Given the description of an element on the screen output the (x, y) to click on. 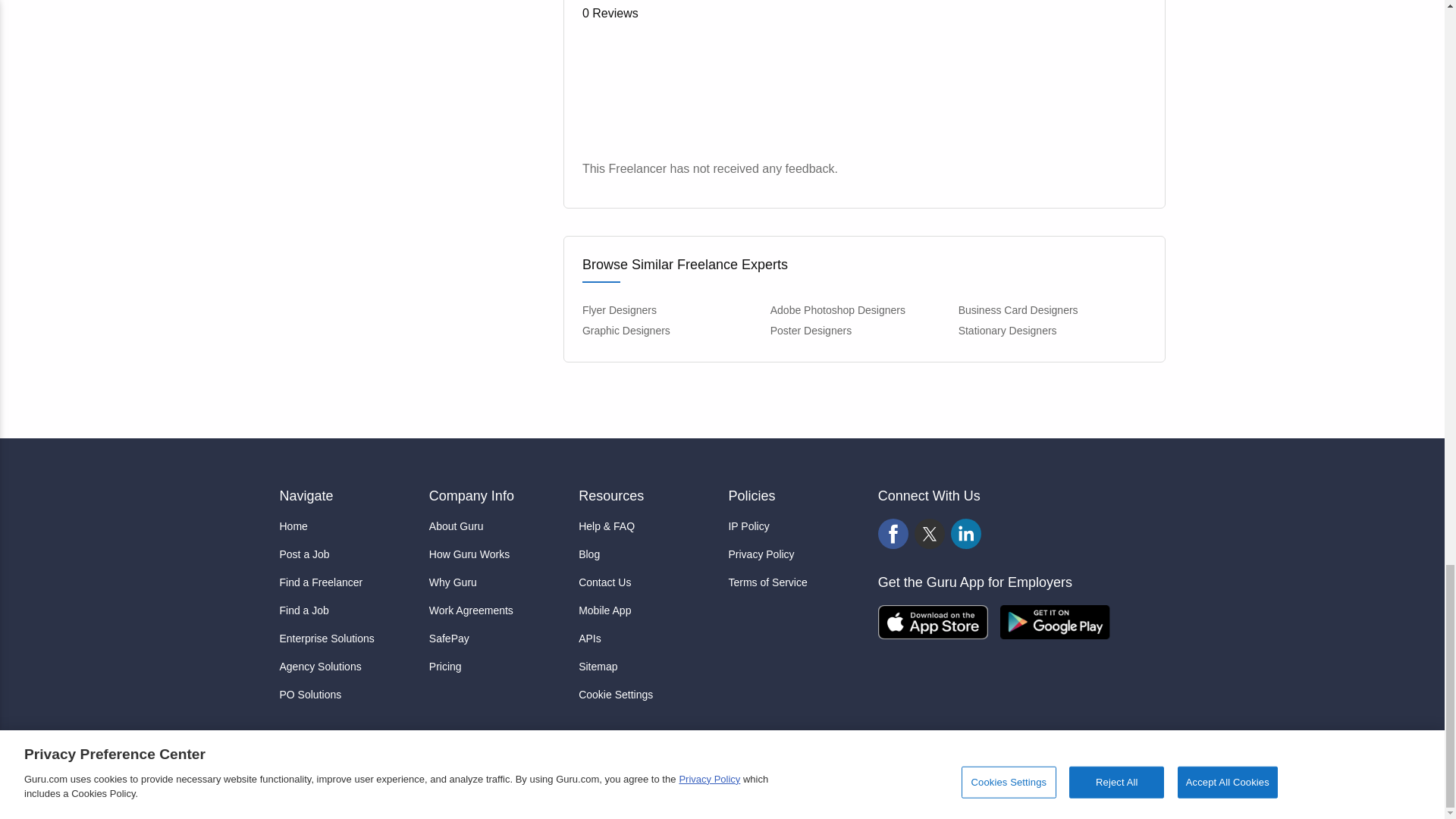
Connect with Guru on LinkedIn (965, 533)
Find a Freelancer (347, 582)
Connect with Guru on Facebook (893, 533)
Post a Job (347, 554)
Home (347, 526)
Connect with Guru on X (929, 533)
